Given the description of an element on the screen output the (x, y) to click on. 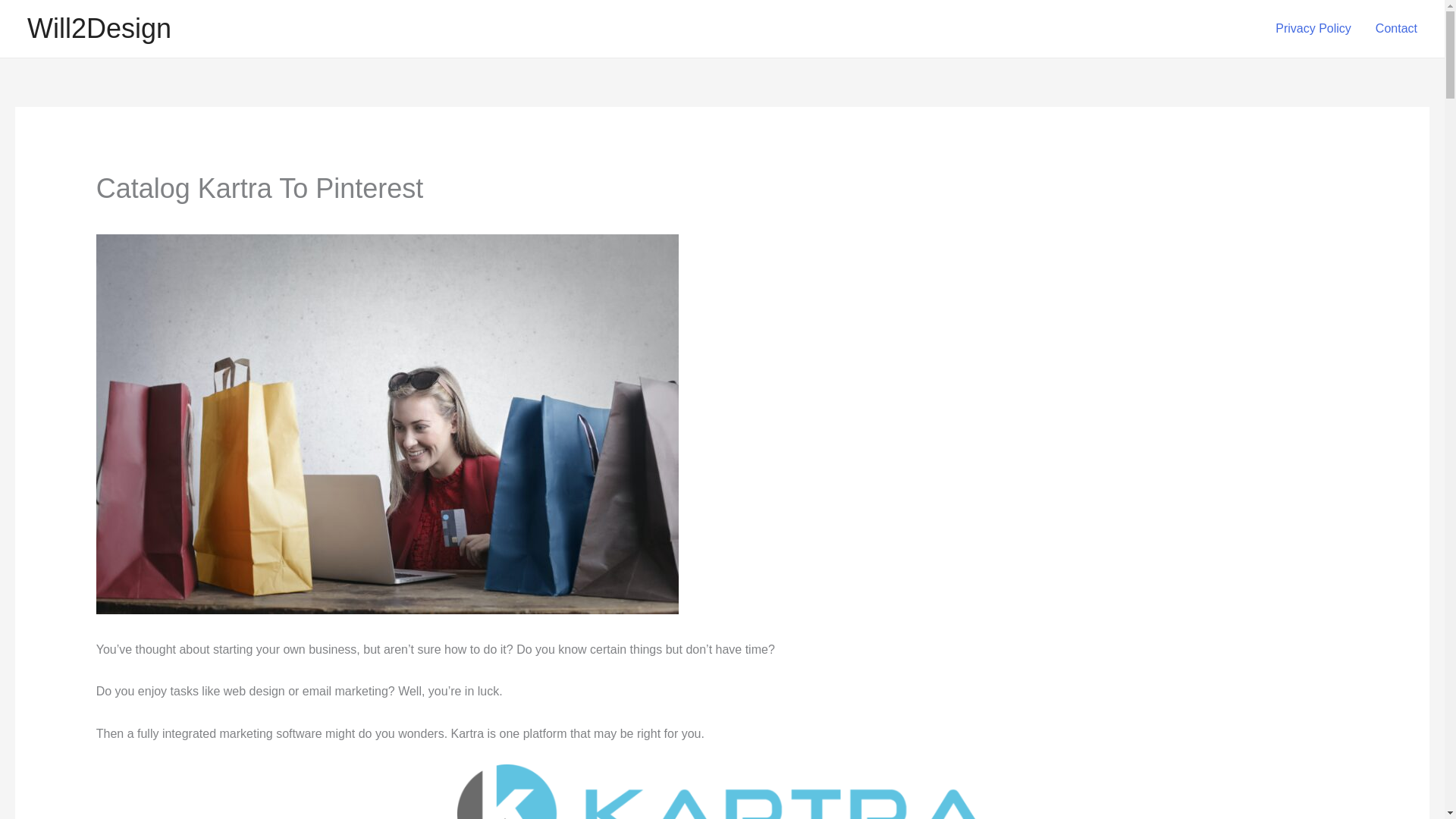
Contact (1395, 28)
Privacy Policy (1312, 28)
Will2Design (99, 28)
